Given the description of an element on the screen output the (x, y) to click on. 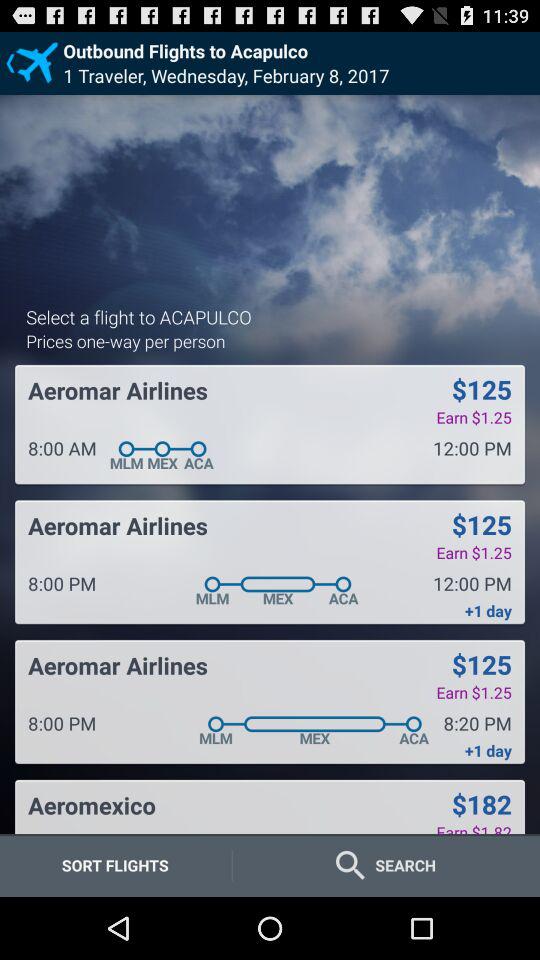
turn off select a flight icon (138, 316)
